Given the description of an element on the screen output the (x, y) to click on. 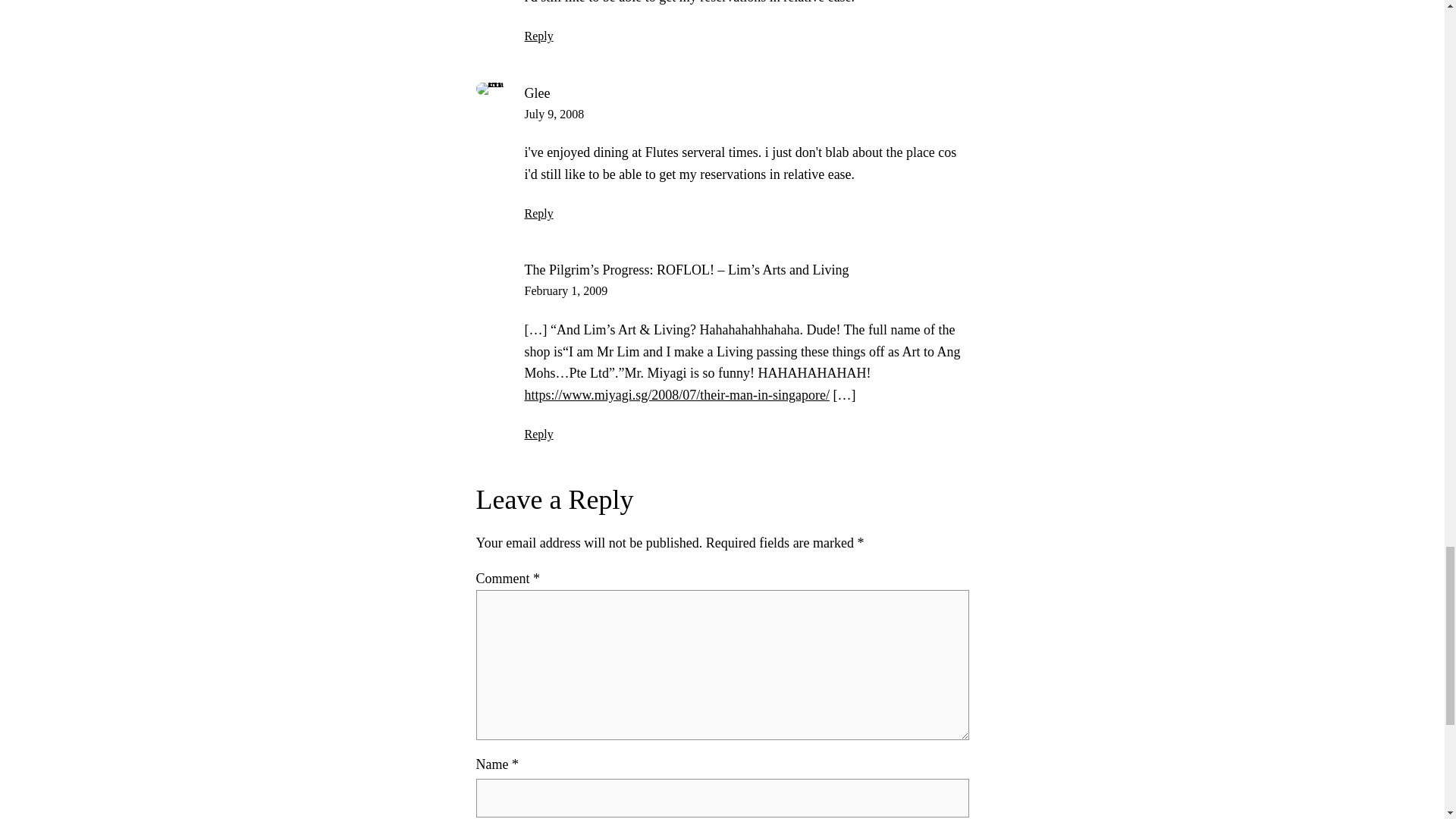
Reply (538, 35)
